Given the description of an element on the screen output the (x, y) to click on. 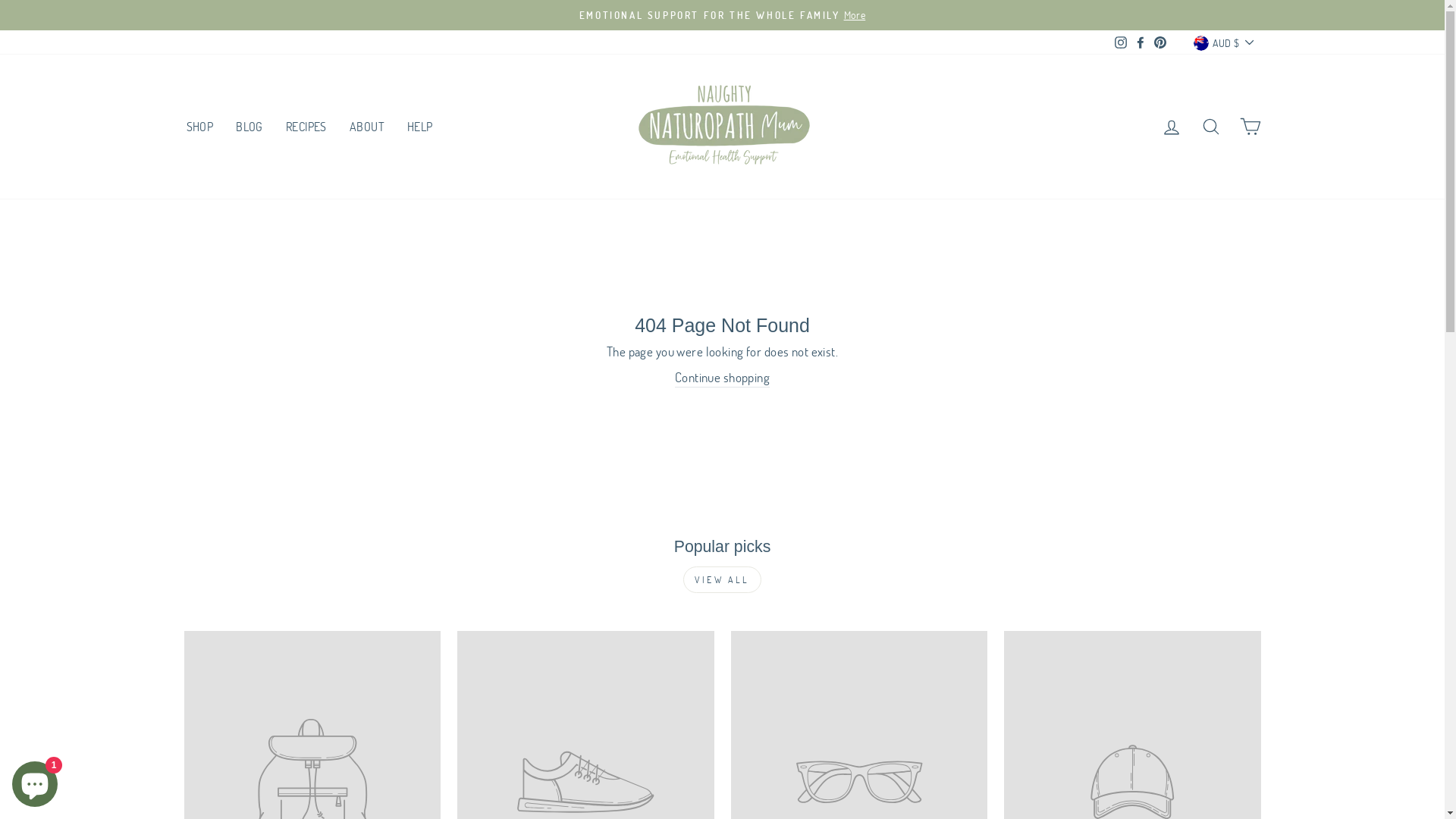
Cart Element type: text (1249, 125)
Shopify online store chat Element type: hover (34, 780)
RECIPES Element type: text (306, 126)
BLOG Element type: text (249, 126)
Instagram Element type: text (1120, 42)
AUD $ Element type: text (1223, 42)
VIEW ALL Element type: text (722, 579)
Facebook Element type: text (1140, 42)
Search Element type: text (1210, 125)
Log in Element type: text (1170, 125)
Pinterest Element type: text (1160, 42)
Skip to content Element type: text (0, 0)
Continue shopping Element type: text (721, 377)
SHOP Element type: text (199, 126)
HELP Element type: text (419, 126)
ABOUT Element type: text (366, 126)
EMOTIONAL SUPPORT FOR THE WHOLE FAMILYMore Element type: text (722, 14)
